Given the description of an element on the screen output the (x, y) to click on. 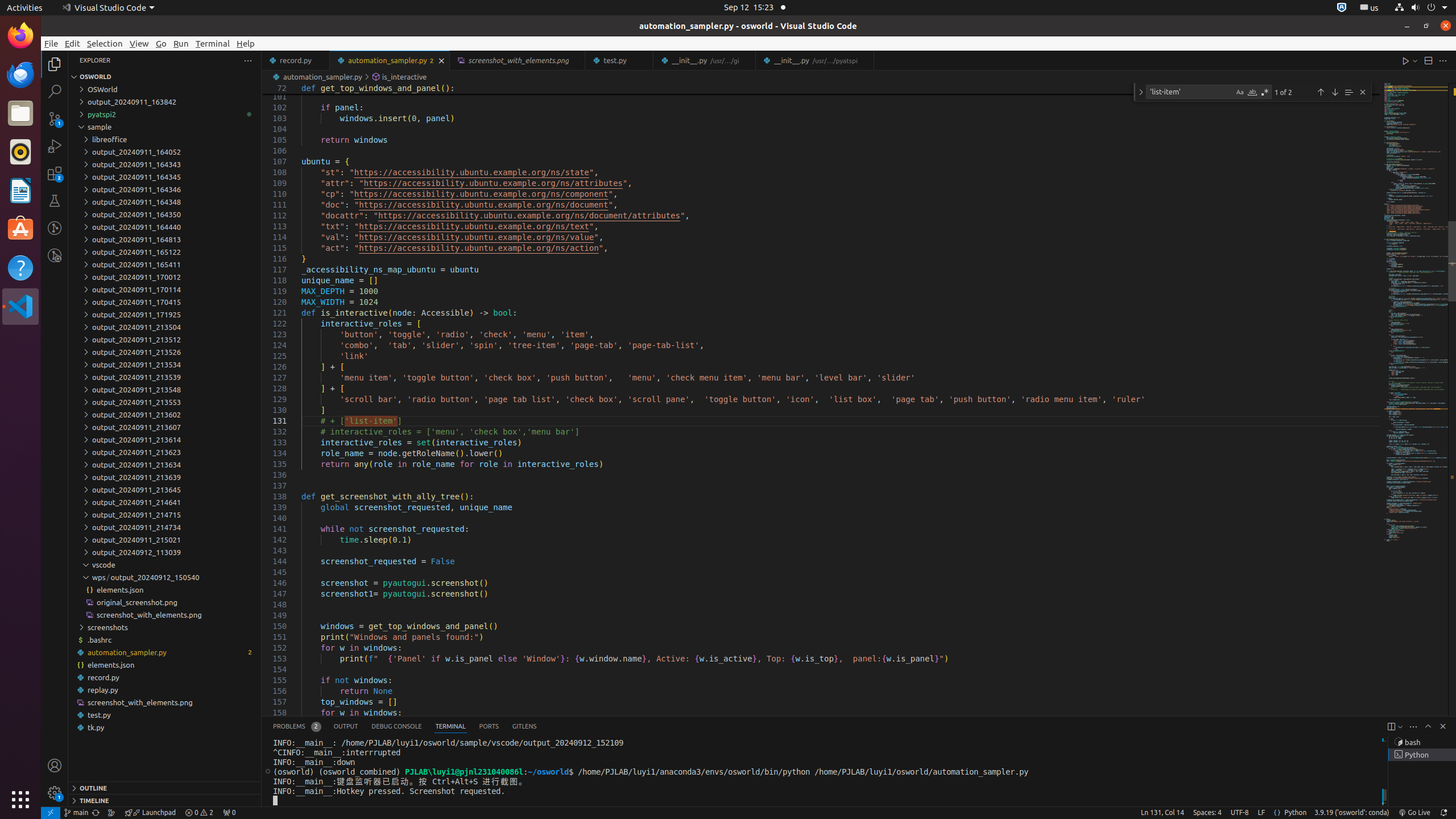
Views and More Actions... Element type: push-button (1413, 726)
output_20240911_213634 Element type: tree-item (164, 464)
UTF-8 Element type: push-button (1239, 812)
output_20240911_213504 Element type: tree-item (164, 326)
output_20240911_164345 Element type: tree-item (164, 176)
